Given the description of an element on the screen output the (x, y) to click on. 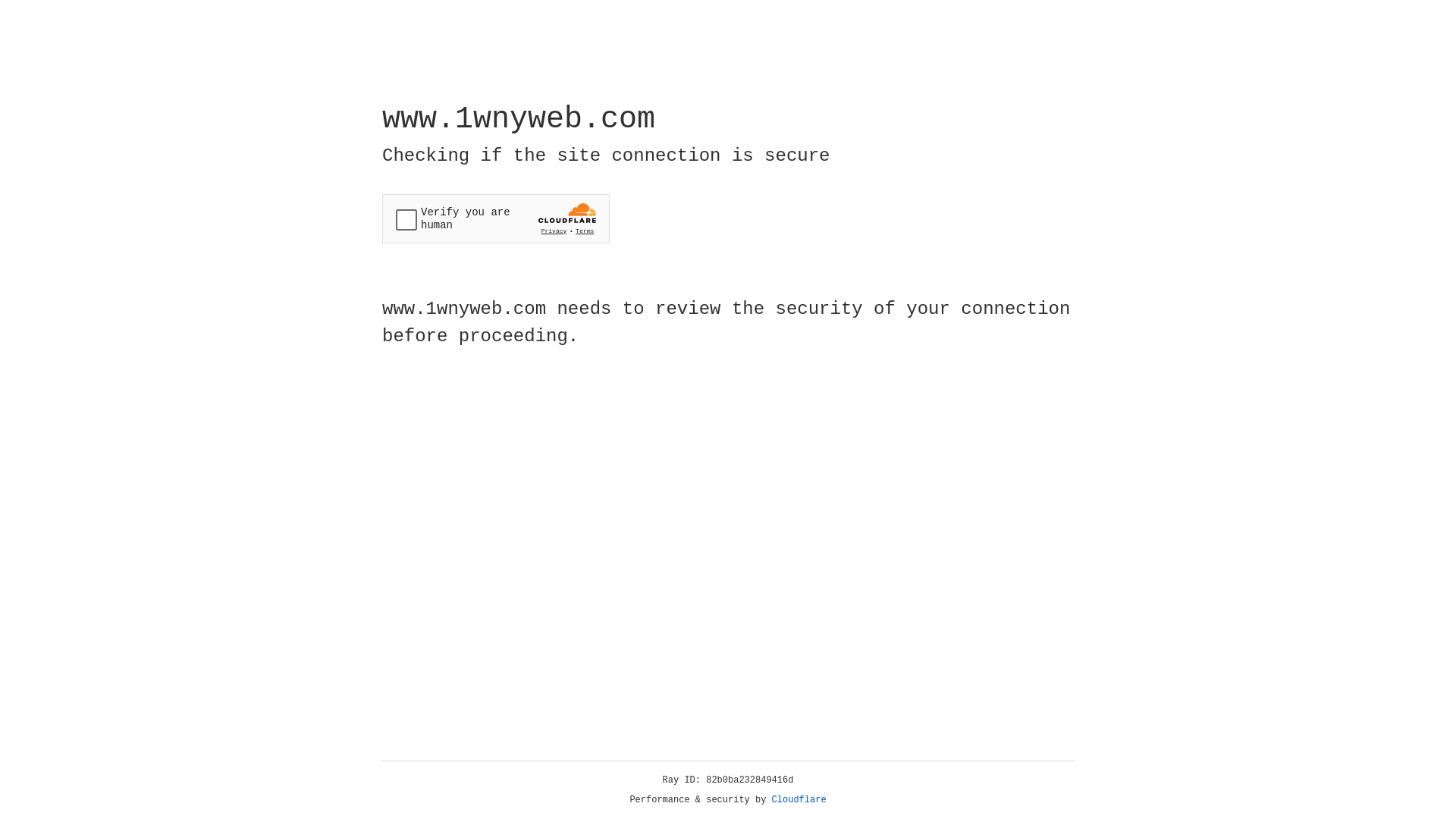
Cloudflare Element type: text (798, 799)
Widget containing a Cloudflare security challenge Element type: hover (495, 218)
